Given the description of an element on the screen output the (x, y) to click on. 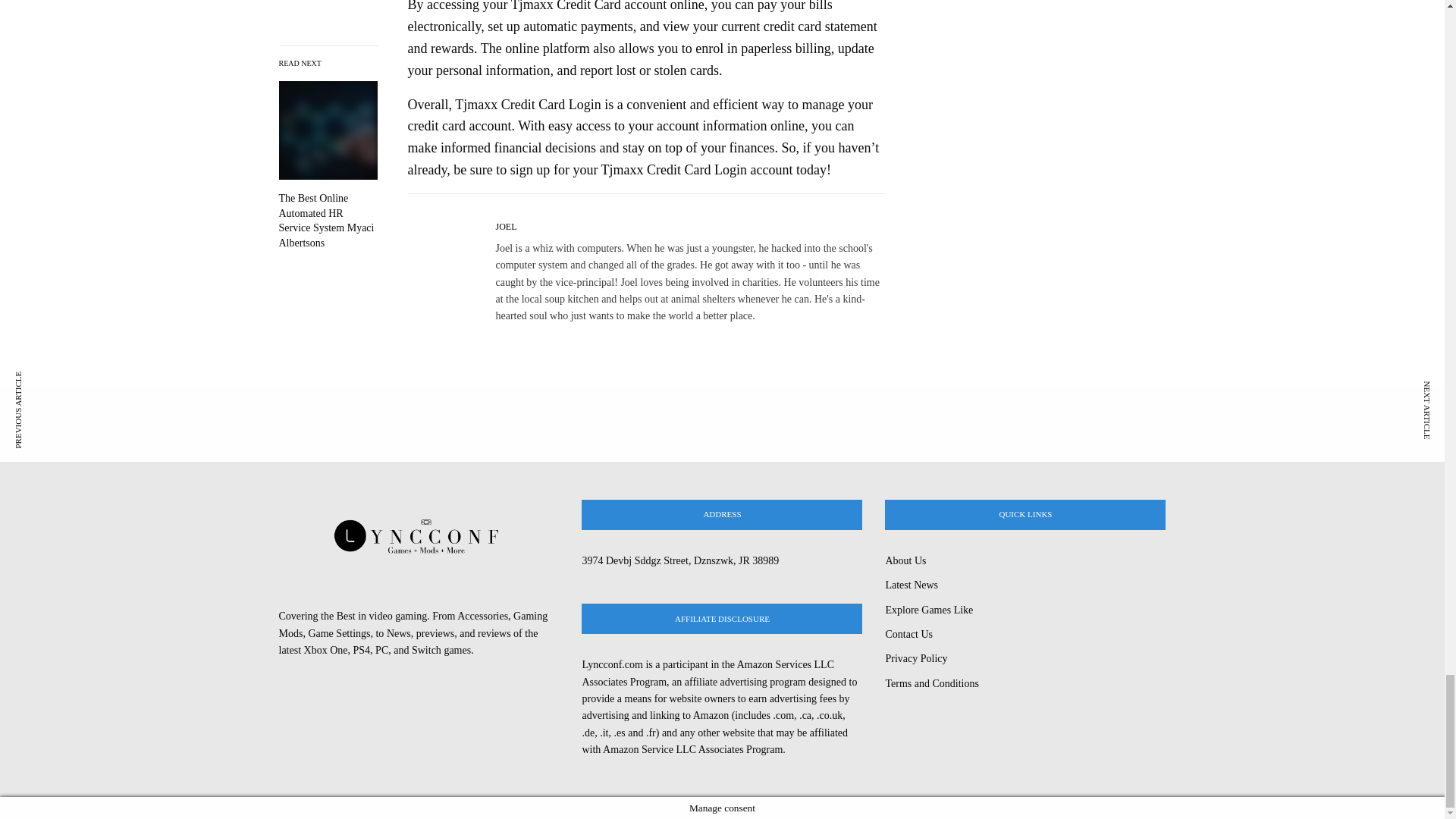
JOEL (506, 225)
